Given the description of an element on the screen output the (x, y) to click on. 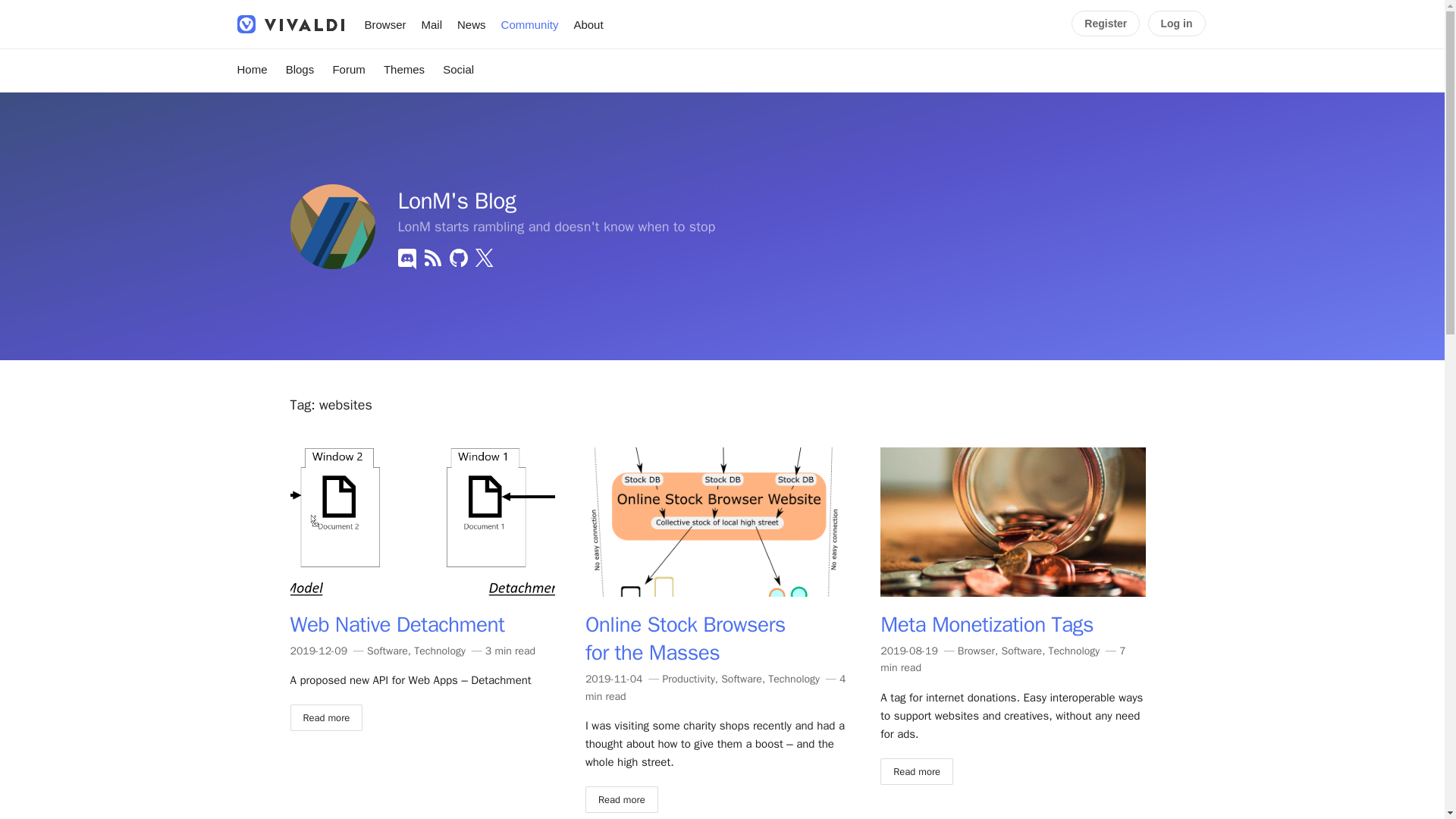
Online Stock Browsers for the Masses (685, 637)
Web Native Detachment (396, 624)
Discord (405, 257)
2019-08-19 (908, 650)
Technology (439, 650)
X (483, 257)
Read more (621, 799)
GitHub (457, 257)
Meta Monetization Tags (986, 624)
Software (386, 650)
Browser (976, 650)
Software (1021, 650)
Technology (1074, 650)
2019-11-04 (614, 678)
